Given the description of an element on the screen output the (x, y) to click on. 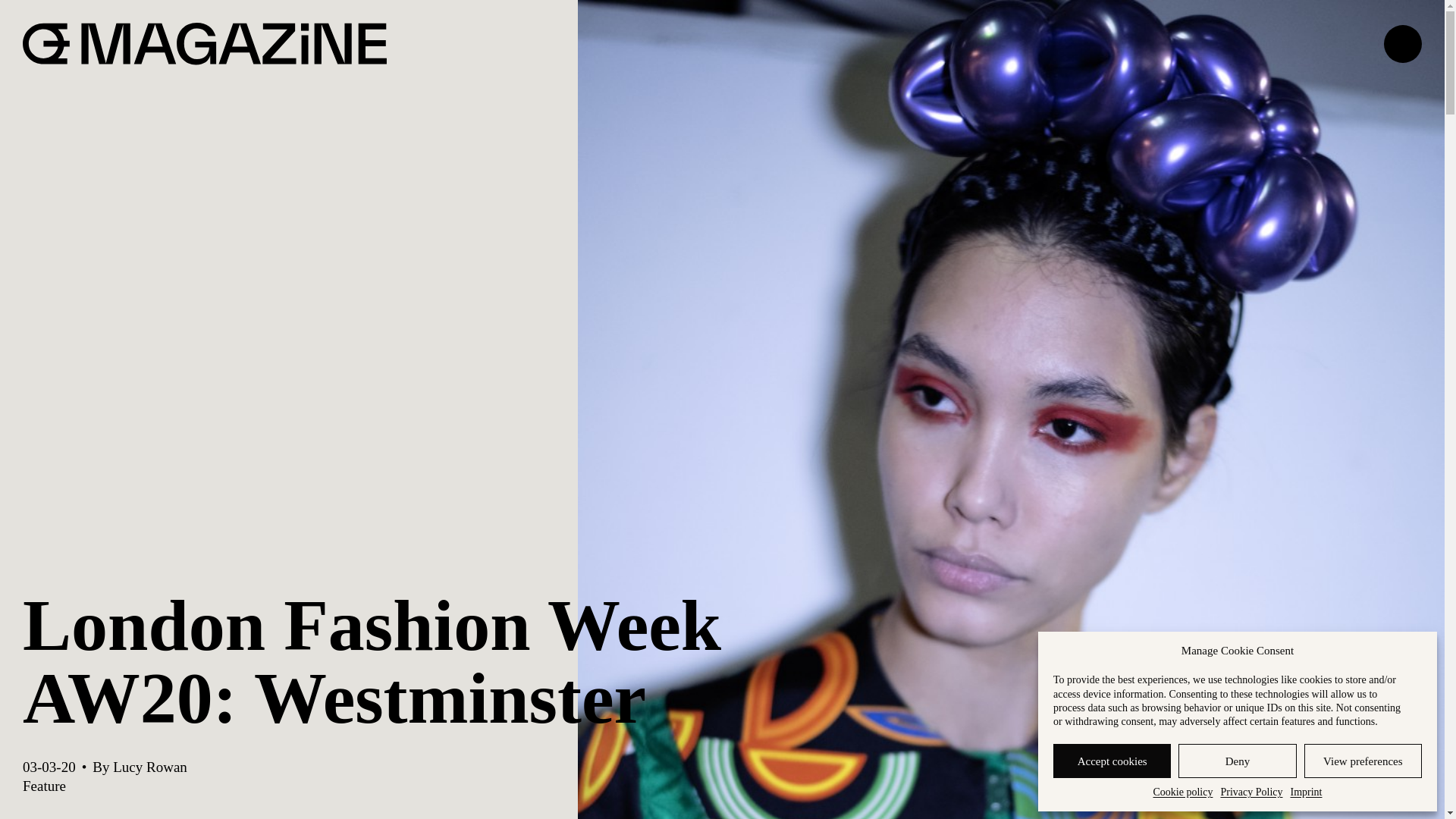
Privacy Policy (1251, 792)
View preferences (1363, 760)
Imprint (1306, 792)
Cookie policy (1182, 792)
Feature (44, 785)
Lucy Rowan (150, 766)
Deny (1236, 760)
Accept cookies (1111, 760)
